Given the description of an element on the screen output the (x, y) to click on. 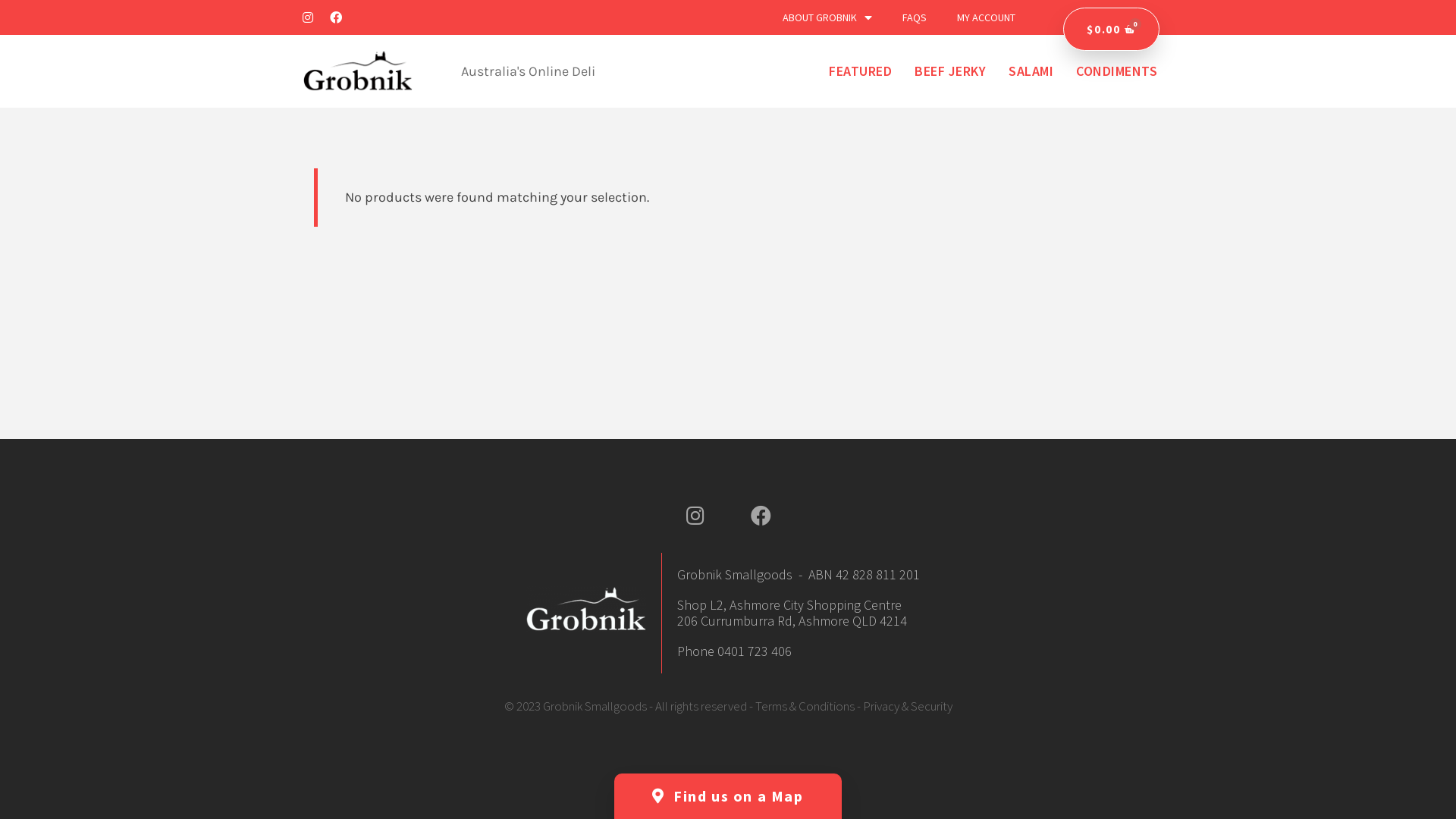
FEATURED Element type: text (859, 70)
SALAMI Element type: text (1030, 70)
$0.00 Element type: text (1111, 28)
Privacy & Security Element type: text (907, 705)
Phone 0401 723 406 Element type: text (734, 650)
Terms & Conditions Element type: text (804, 705)
CONDIMENTS Element type: text (1116, 70)
MY ACCOUNT Element type: text (985, 17)
FAQS Element type: text (914, 17)
grobnik-logo Element type: hover (586, 609)
BEEF JERKY Element type: text (949, 70)
ABOUT GROBNIK Element type: text (827, 17)
